Given the description of an element on the screen output the (x, y) to click on. 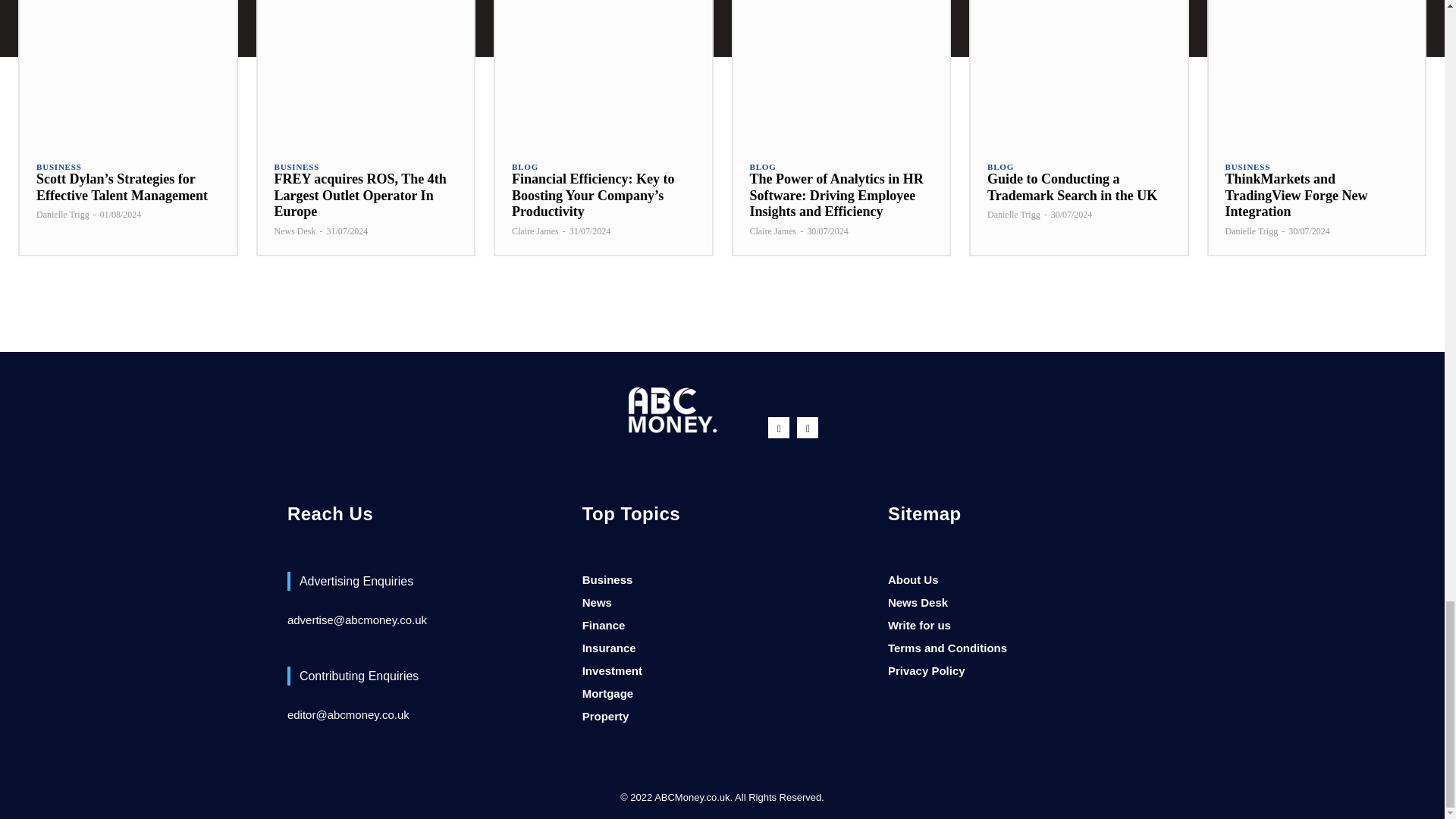
FREY acquires ROS, The 4th Largest Outlet Operator In Europe (365, 71)
FREY acquires ROS, The 4th Largest Outlet Operator In Europe (360, 195)
